Given the description of an element on the screen output the (x, y) to click on. 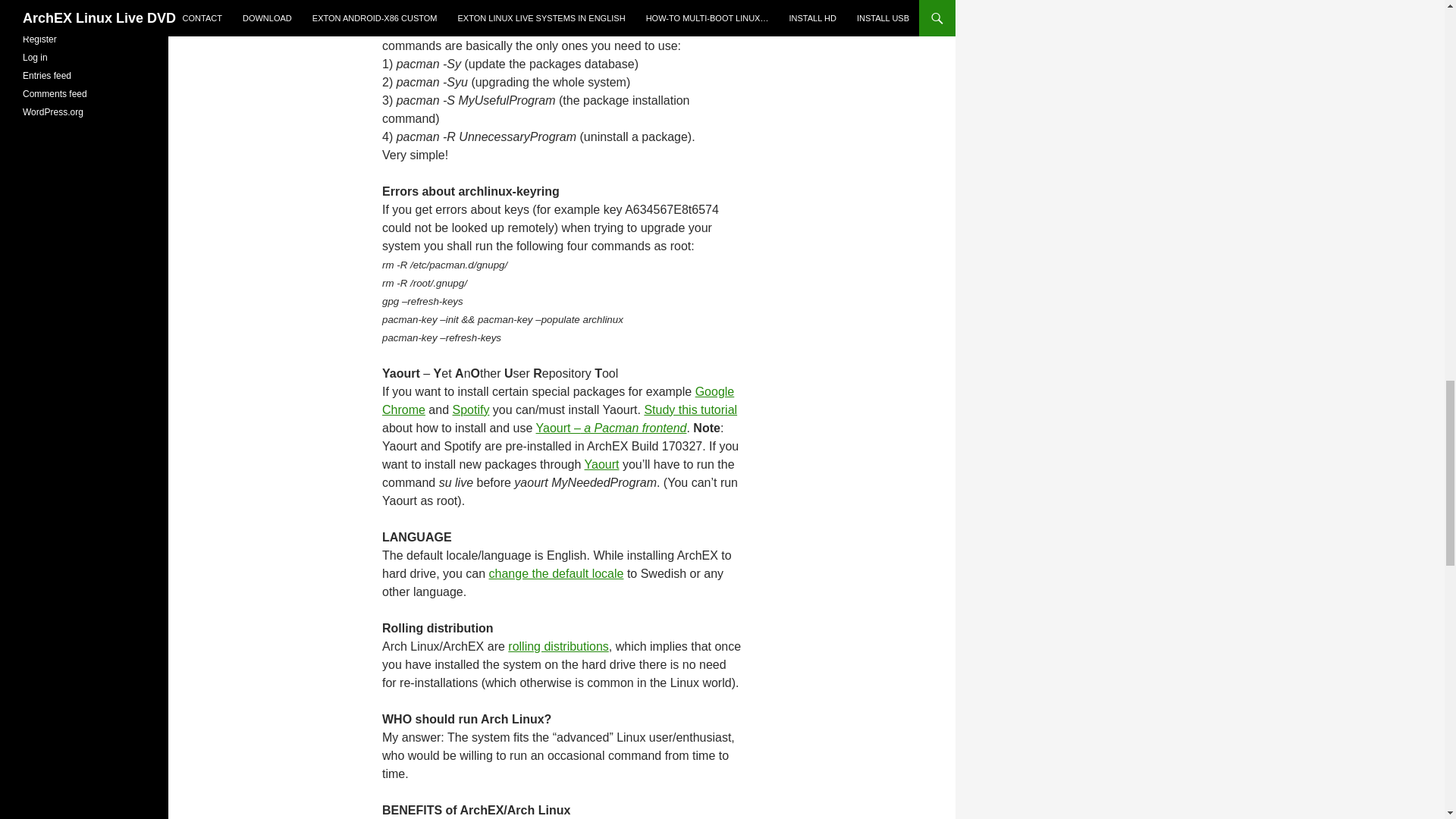
about Pacman (610, 9)
CRUX (482, 9)
documentation on Arch Linux (596, 27)
Spotify (470, 409)
Google Chrome (557, 400)
